Given the description of an element on the screen output the (x, y) to click on. 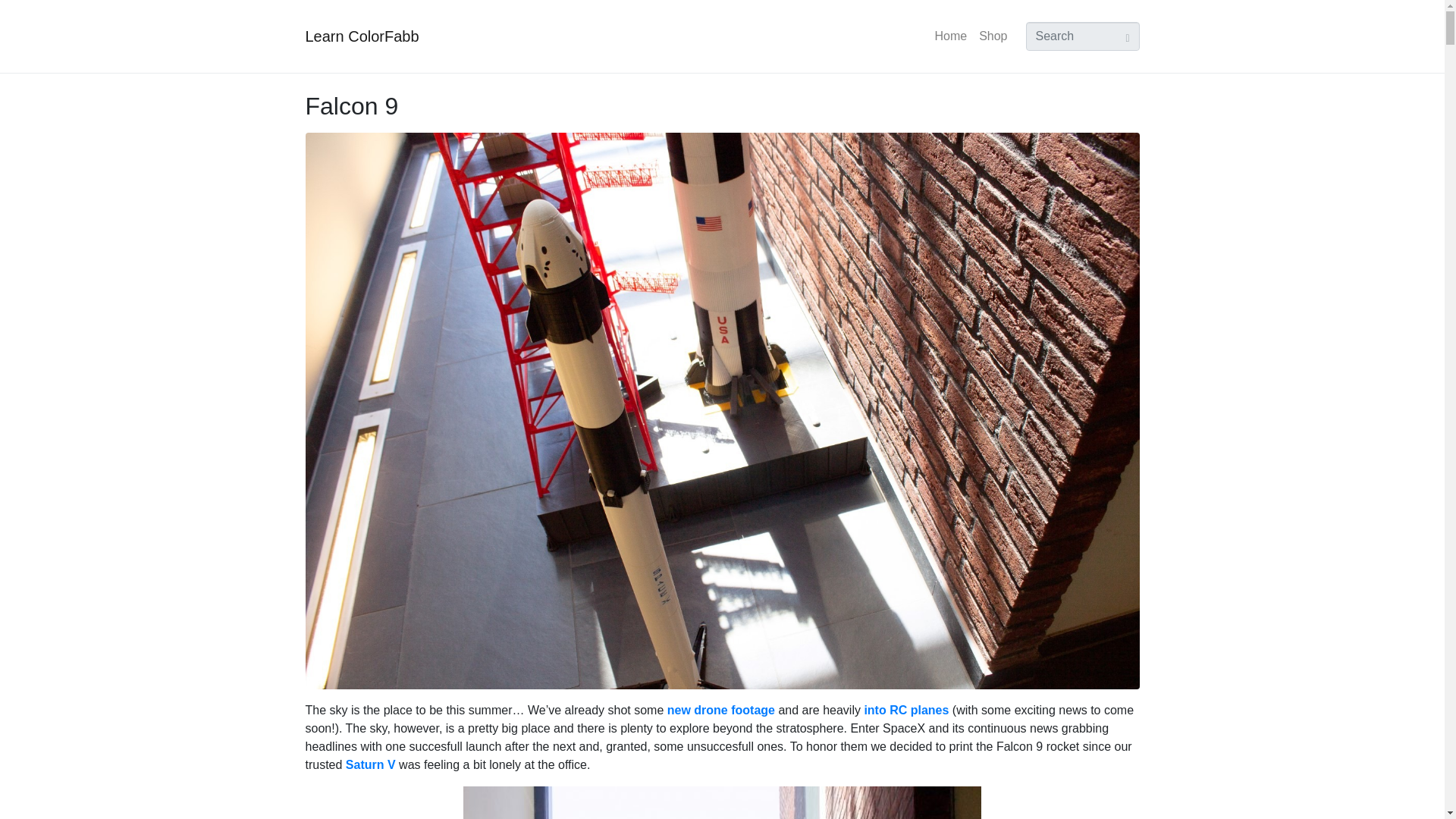
Falcon 9 (350, 105)
new drone footage (720, 709)
Falcon 9 (721, 409)
Learn ColorFabb (361, 36)
Falcon 9 (350, 105)
into RC planes (906, 709)
Shop (992, 36)
Saturn V (371, 764)
Home (950, 36)
